Given the description of an element on the screen output the (x, y) to click on. 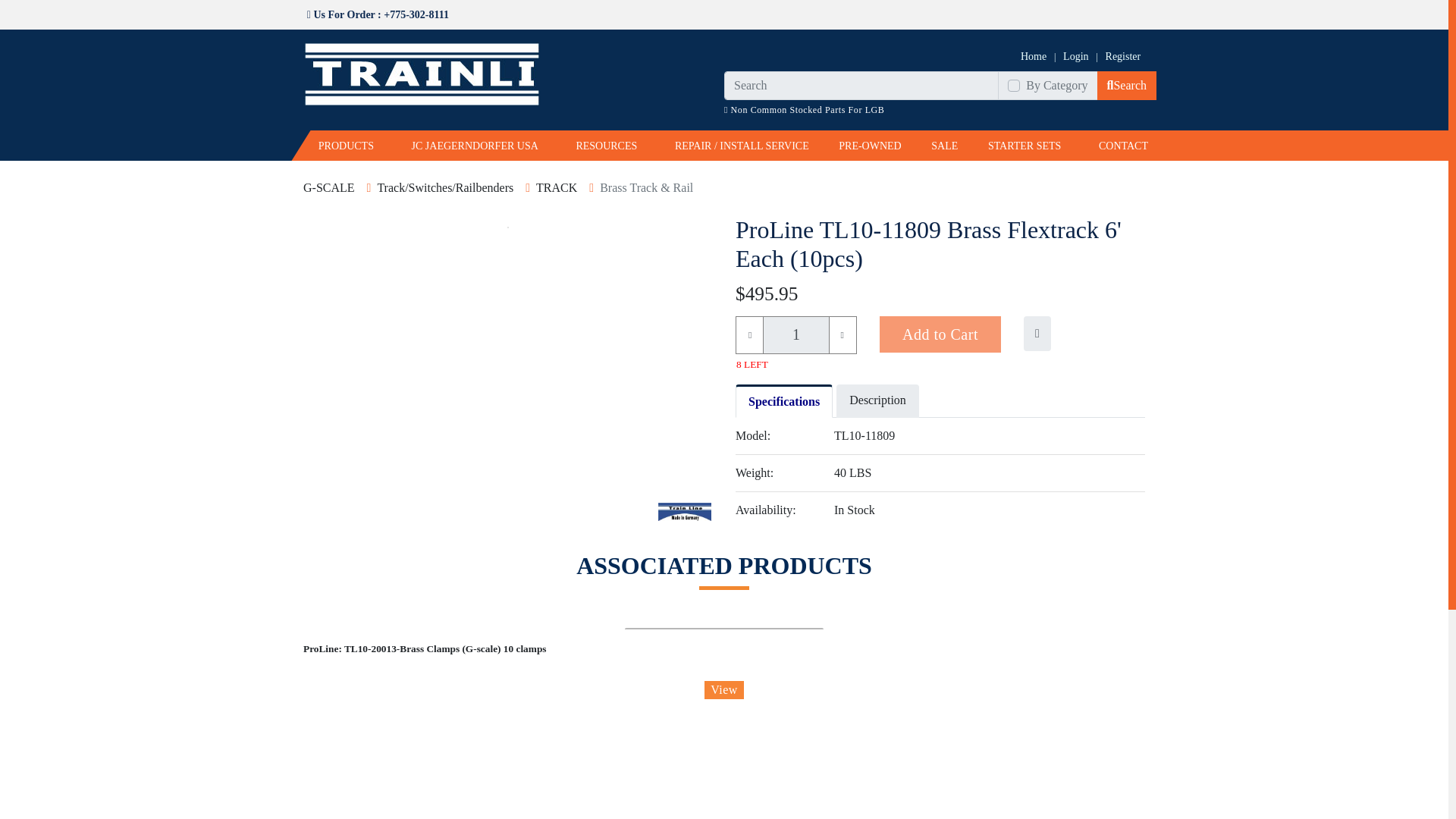
PRODUCTS (345, 141)
RESOURCES (607, 141)
Search (1126, 85)
Register (1123, 56)
1 (795, 334)
Login (1075, 56)
Home (1032, 56)
Non Common Stocked Parts For LGB (803, 109)
JC JAEGERNDORFER USA (474, 141)
